Given the description of an element on the screen output the (x, y) to click on. 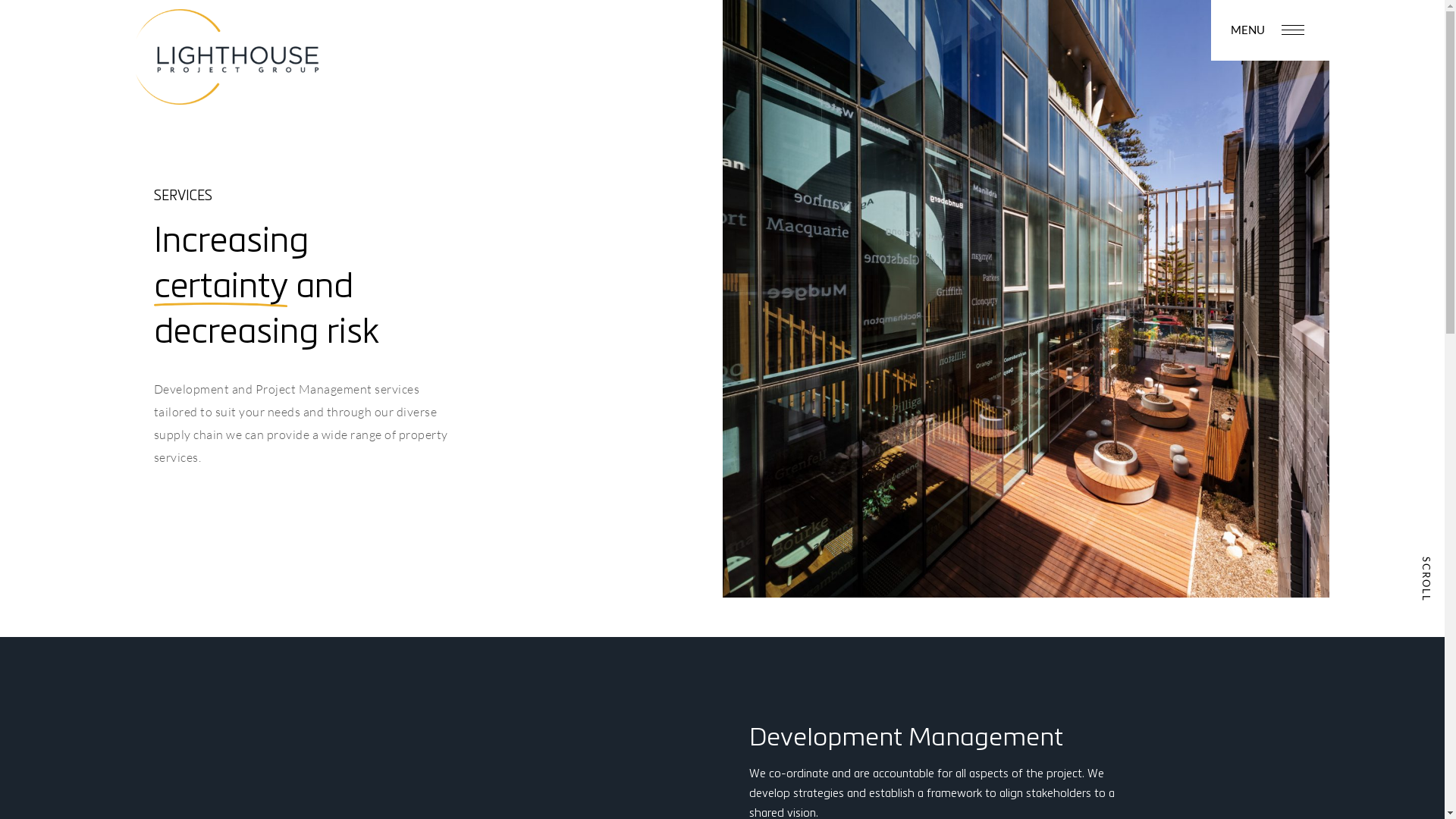
SCROLL Element type: text (1426, 573)
